Given the description of an element on the screen output the (x, y) to click on. 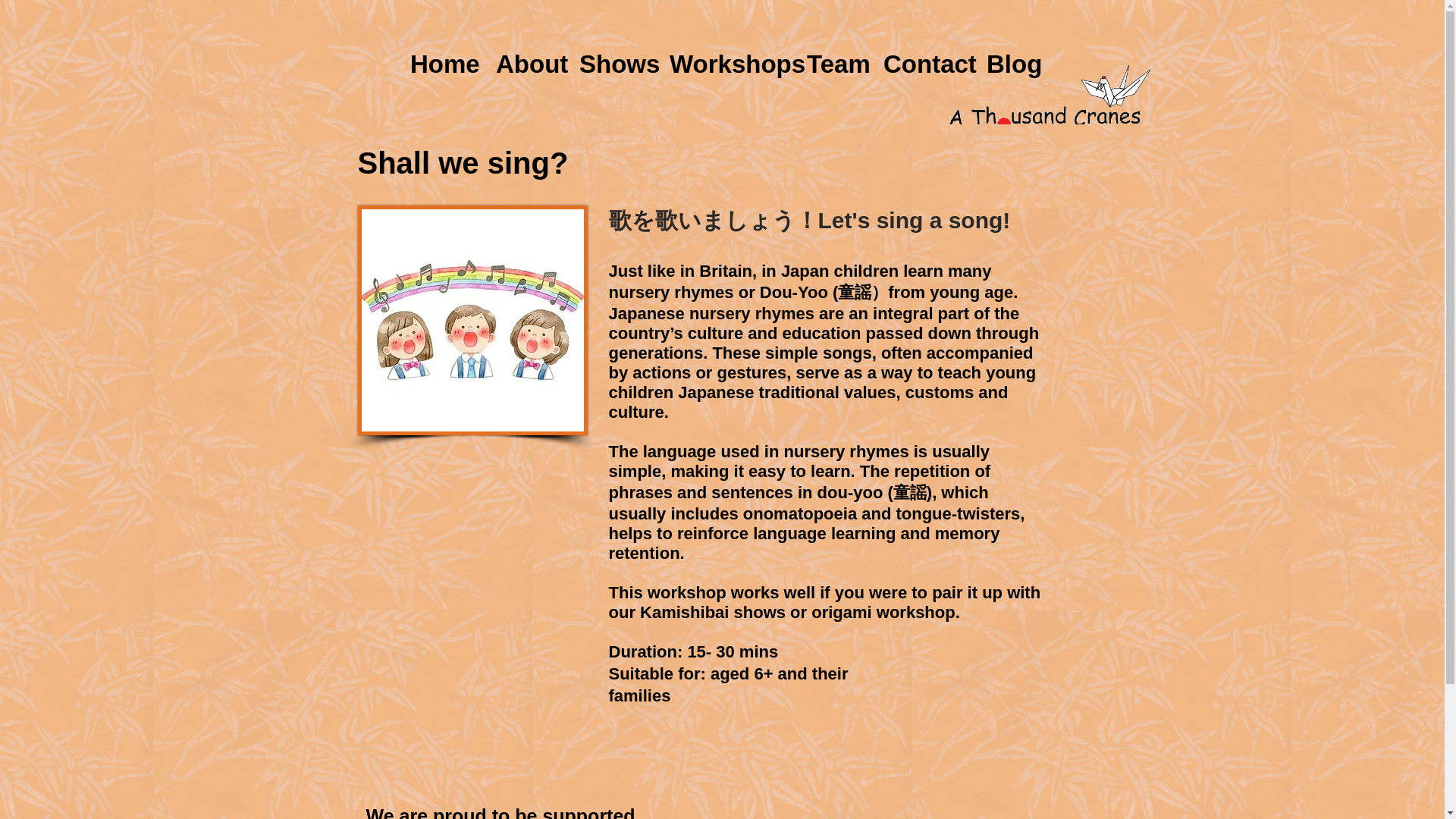
Blog (1010, 64)
Home (441, 64)
Shows (612, 64)
Team (833, 64)
About (525, 64)
Workshops (726, 64)
Contact (923, 64)
